Given the description of an element on the screen output the (x, y) to click on. 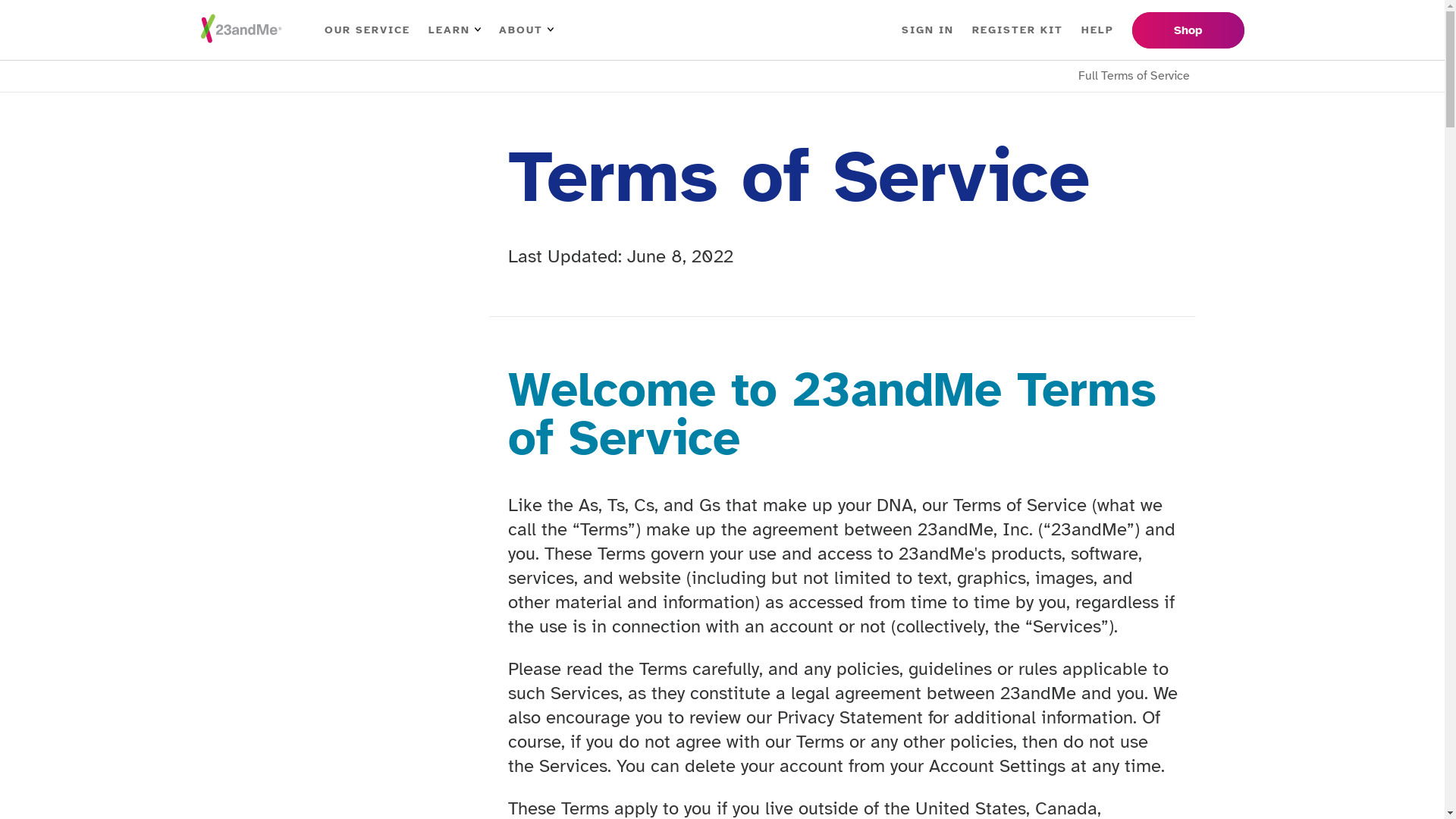
ABOUT Element type: text (525, 30)
SIGN IN Element type: text (926, 29)
LEARN Element type: text (453, 30)
OUR SERVICE Element type: text (367, 29)
REGISTER KIT Element type: text (1017, 29)
Full Terms of Service Element type: text (721, 75)
HELP Element type: text (1097, 29)
Shop Element type: text (1187, 30)
